Given the description of an element on the screen output the (x, y) to click on. 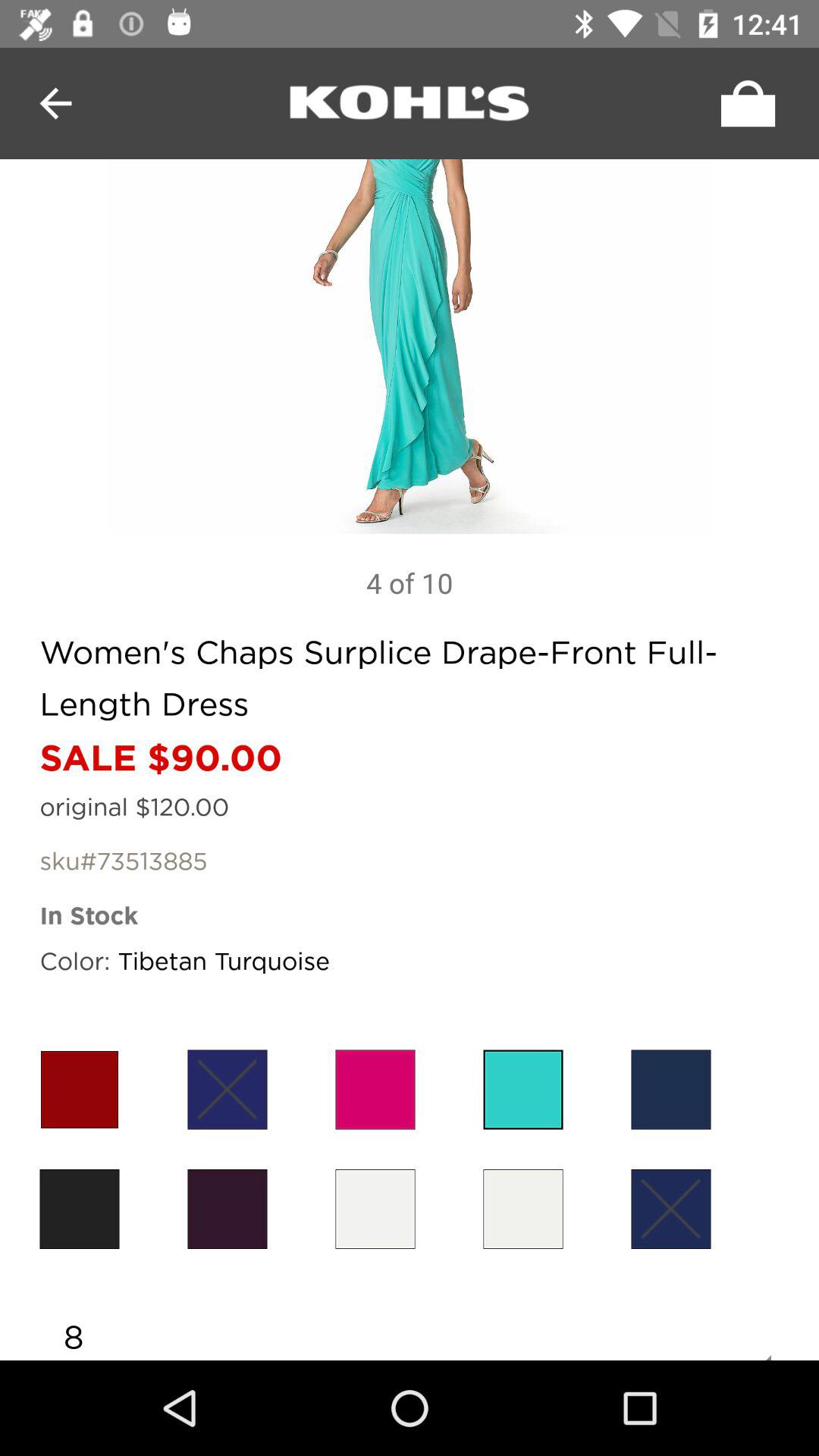
color select (670, 1208)
